Given the description of an element on the screen output the (x, y) to click on. 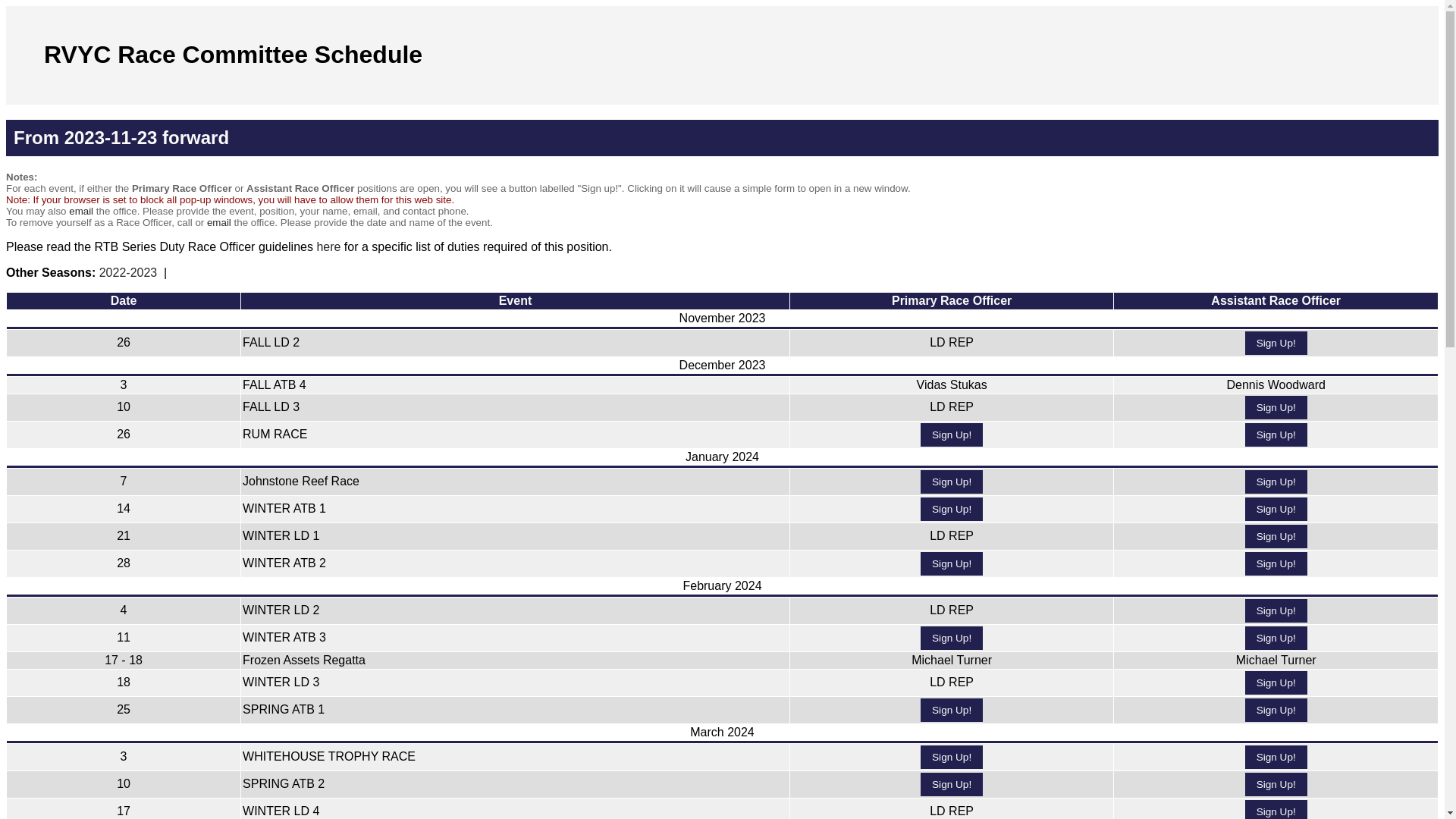
Sign Up! Element type: text (1276, 481)
Sign Up! Element type: text (1276, 709)
Sign Up! Element type: text (1276, 536)
Sign Up! Element type: text (1276, 610)
Sign Up! Element type: text (1276, 682)
Sign Up! Element type: text (1276, 784)
email Element type: text (219, 222)
Sign Up! Element type: text (1276, 637)
2022-2023 Element type: text (128, 272)
email Element type: text (81, 210)
Sign Up! Element type: text (951, 784)
Sign Up! Element type: text (951, 756)
Sign Up! Element type: text (951, 637)
Sign Up! Element type: text (951, 508)
Sign Up! Element type: text (951, 563)
Sign Up! Element type: text (1276, 434)
Sign Up! Element type: text (1276, 756)
Sign Up! Element type: text (951, 481)
Sign Up! Element type: text (1276, 563)
Sign Up! Element type: text (1276, 407)
Sign Up! Element type: text (1276, 508)
here Element type: text (328, 246)
Sign Up! Element type: text (951, 709)
Sign Up! Element type: text (951, 434)
Sign Up! Element type: text (1276, 342)
